Given the description of an element on the screen output the (x, y) to click on. 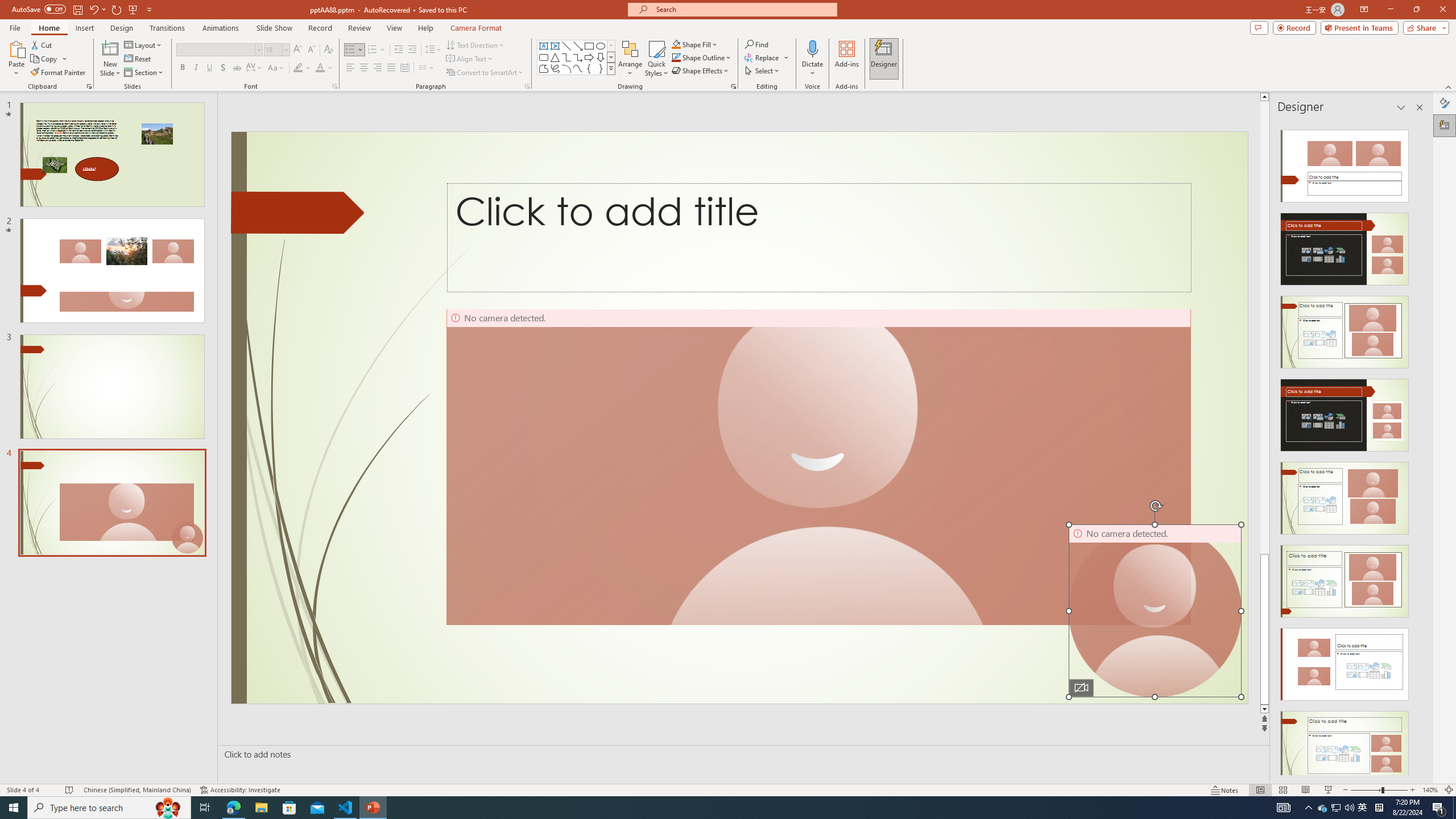
Reset (138, 58)
Rectangle: Rounded Corners (543, 57)
Zoom In (1412, 790)
